Given the description of an element on the screen output the (x, y) to click on. 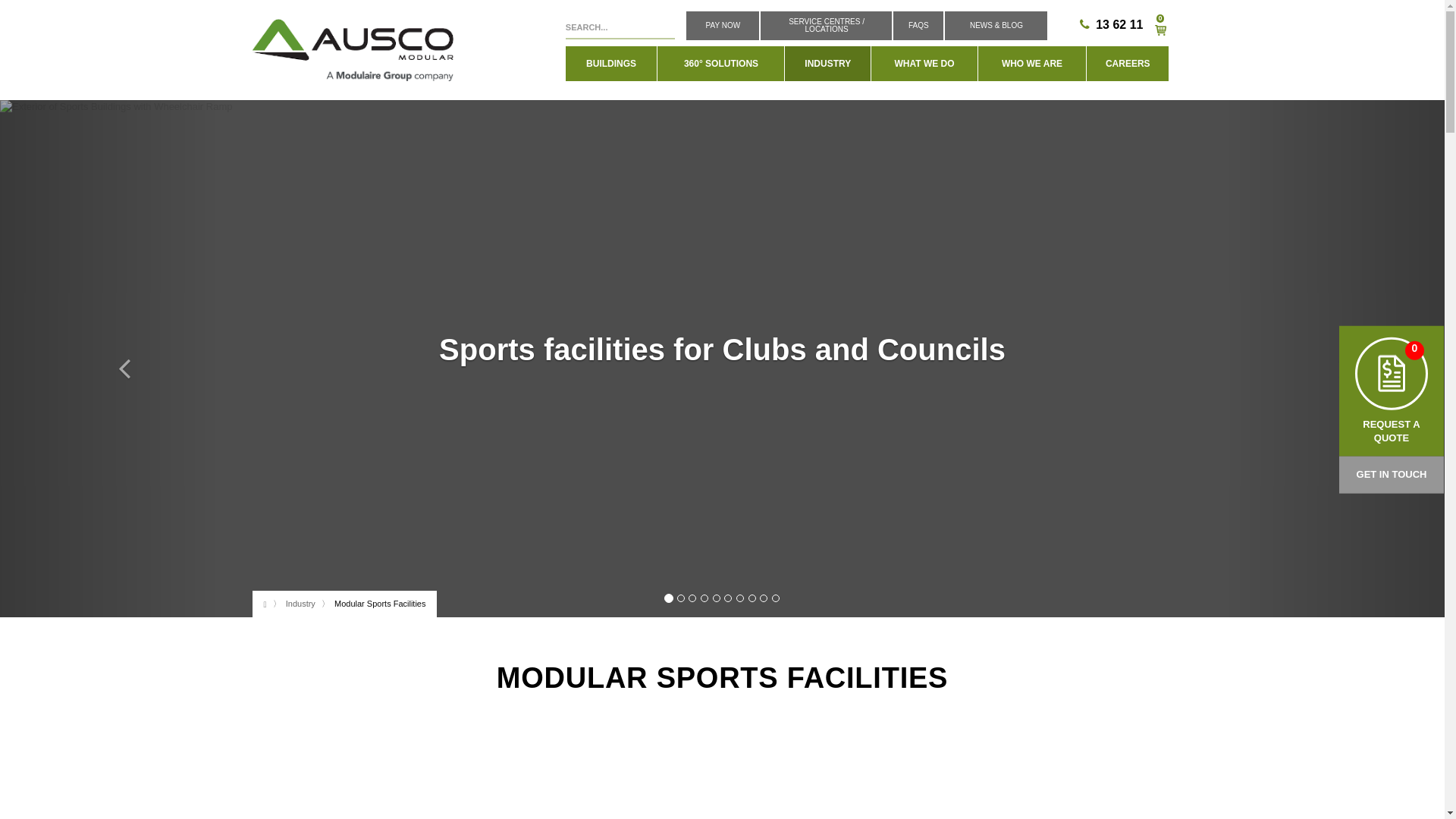
FAQS (918, 25)
SEARCH (663, 27)
PAY NOW (721, 25)
13 62 11 (1119, 24)
BUILDINGS (611, 63)
INDUSTRY (826, 63)
Home (359, 55)
WHAT WE DO (923, 63)
